Given the description of an element on the screen output the (x, y) to click on. 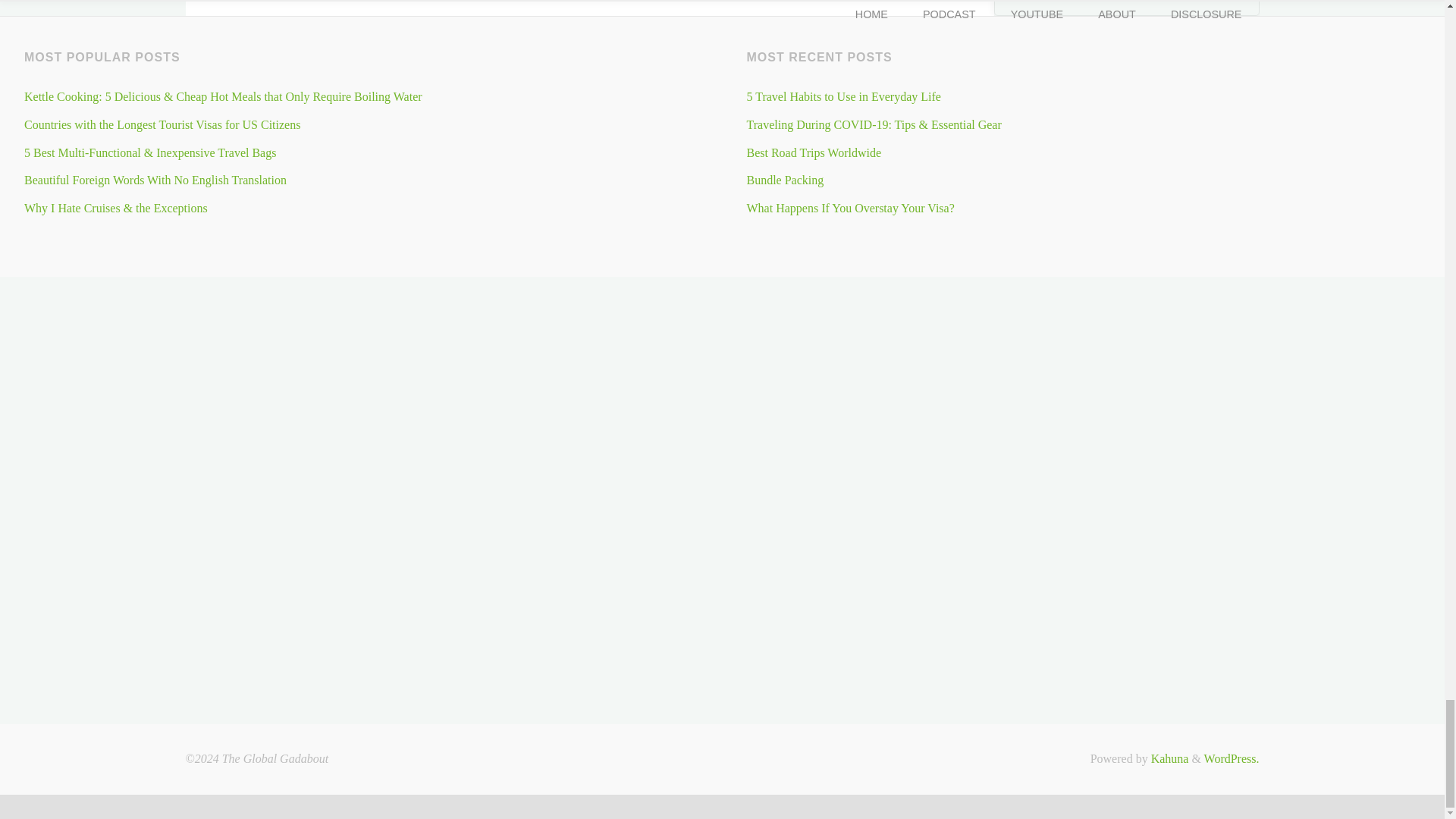
Countries with the Longest Tourist Visas for US Citizens (161, 124)
